Given the description of an element on the screen output the (x, y) to click on. 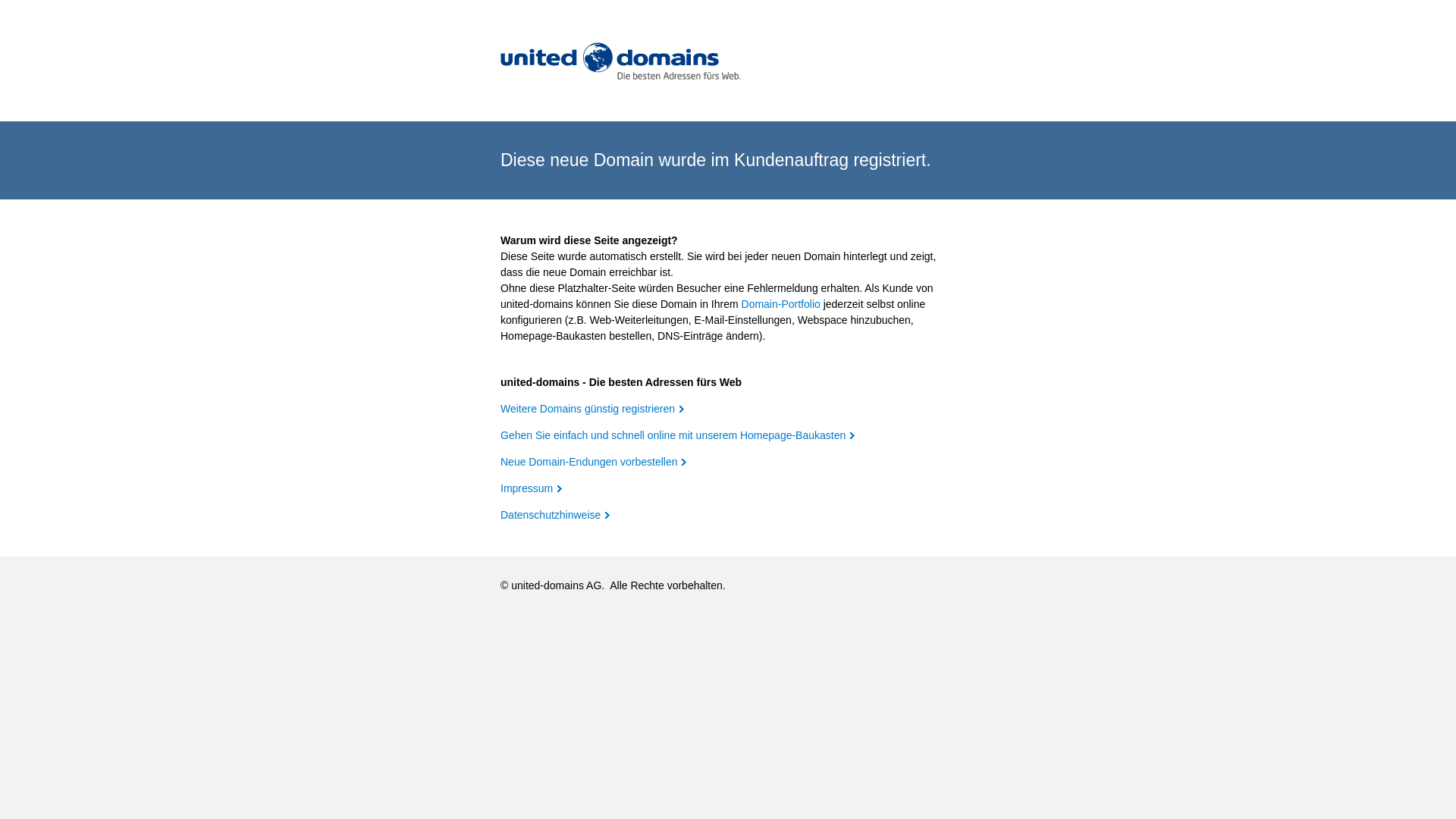
Impressum Element type: text (530, 488)
Neue Domain-Endungen vorbestellen Element type: text (593, 461)
Datenschutzhinweise Element type: text (554, 514)
Domain-Portfolio Element type: text (780, 304)
